Given the description of an element on the screen output the (x, y) to click on. 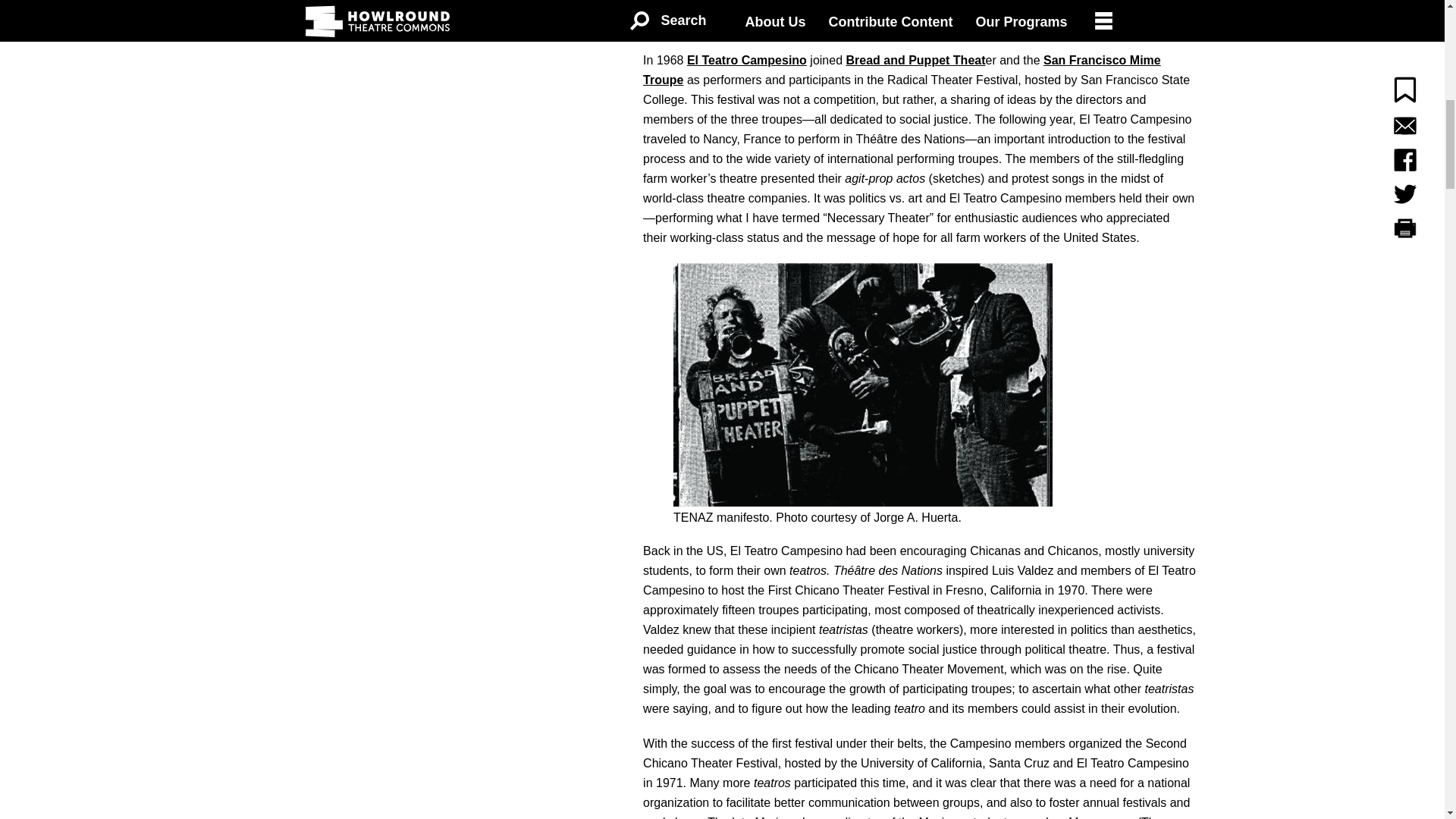
El Teatro Campesino (746, 60)
Bread and Puppet Theat (915, 60)
San Francisco Mime Troupe (901, 70)
